Given the description of an element on the screen output the (x, y) to click on. 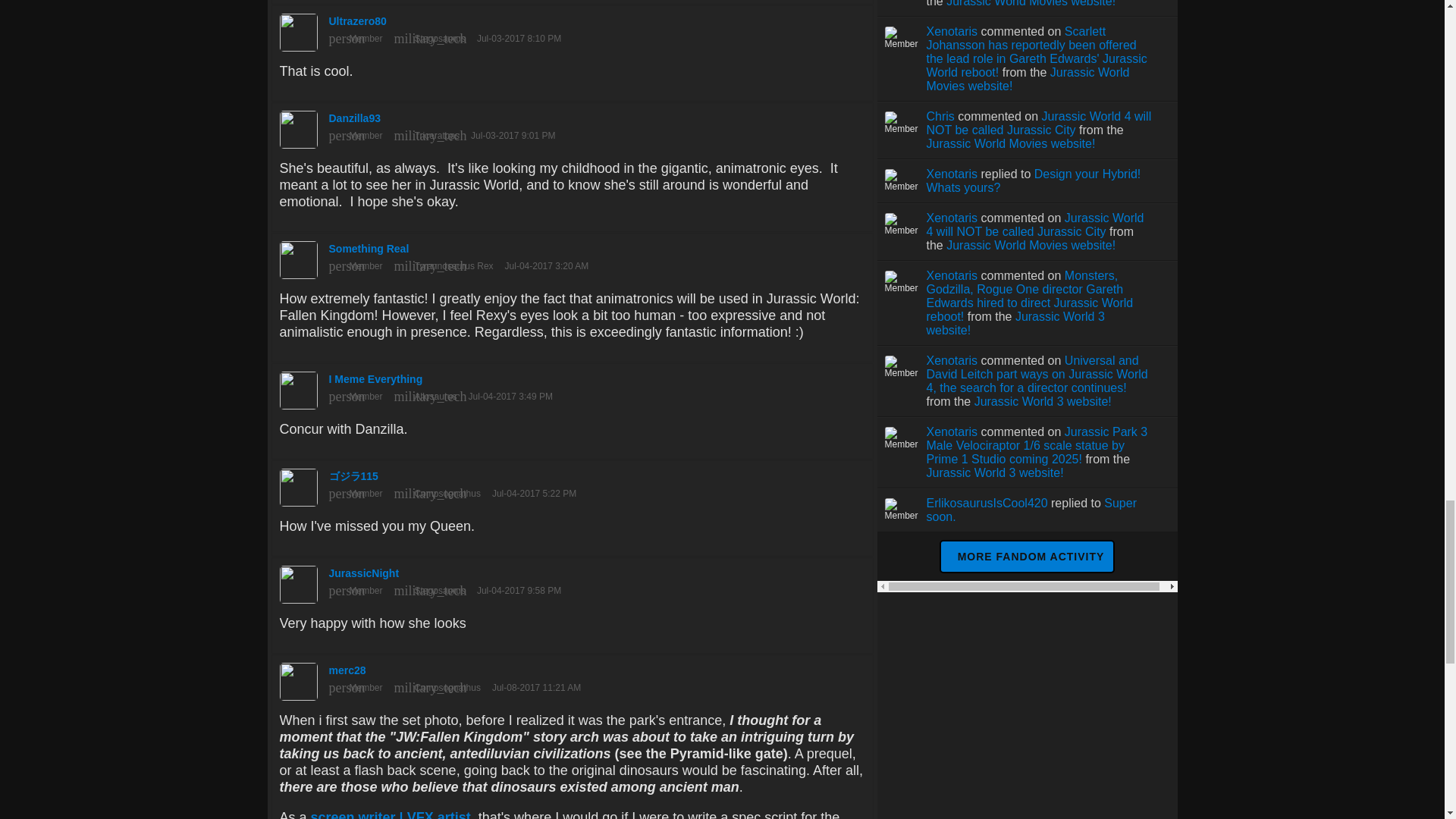
Danzilla93 (571, 125)
Something Real (571, 255)
Ultrazero80 (571, 28)
I Meme Everything (571, 386)
